Given the description of an element on the screen output the (x, y) to click on. 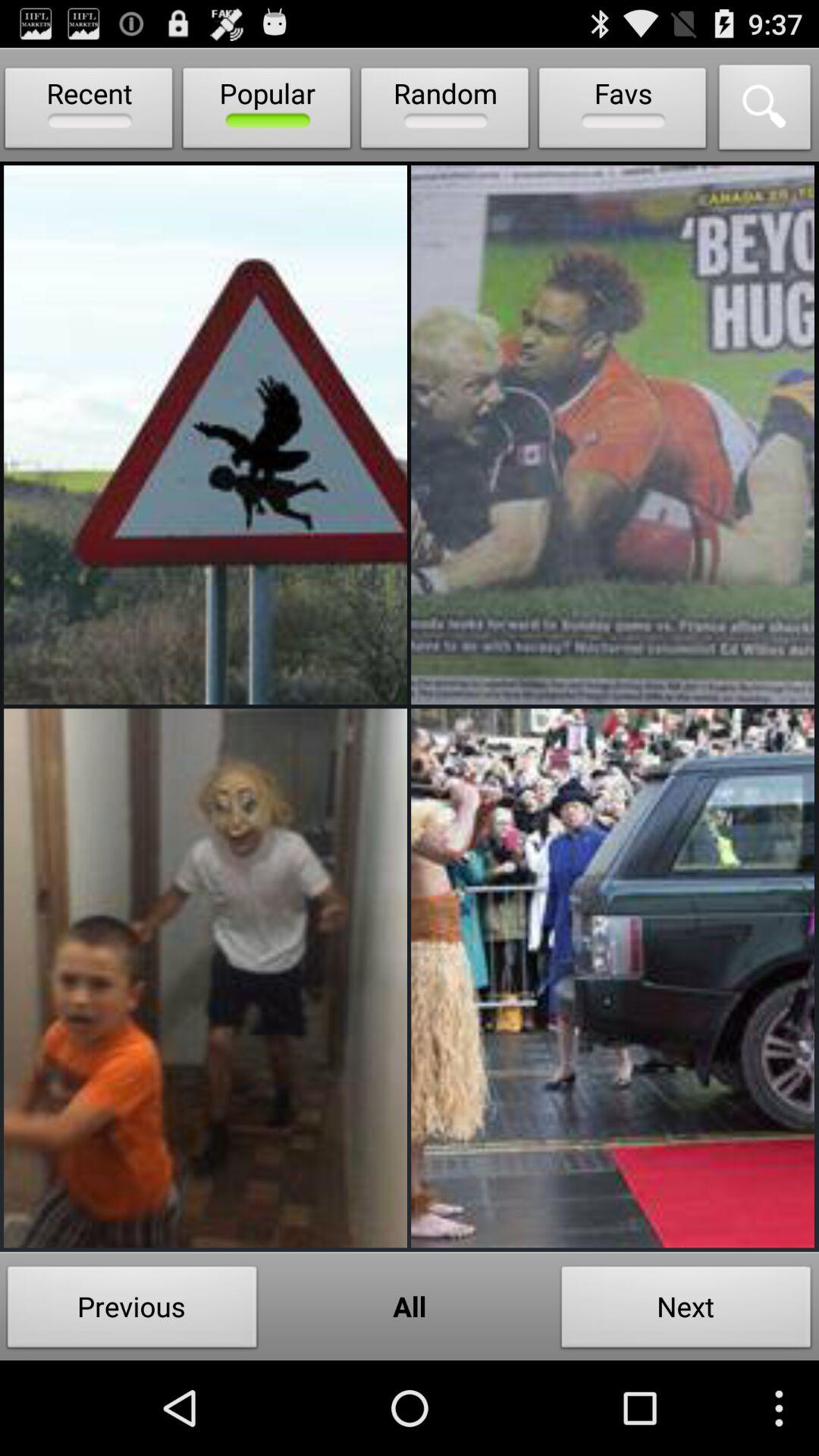
choose item next to the recent (267, 111)
